Given the description of an element on the screen output the (x, y) to click on. 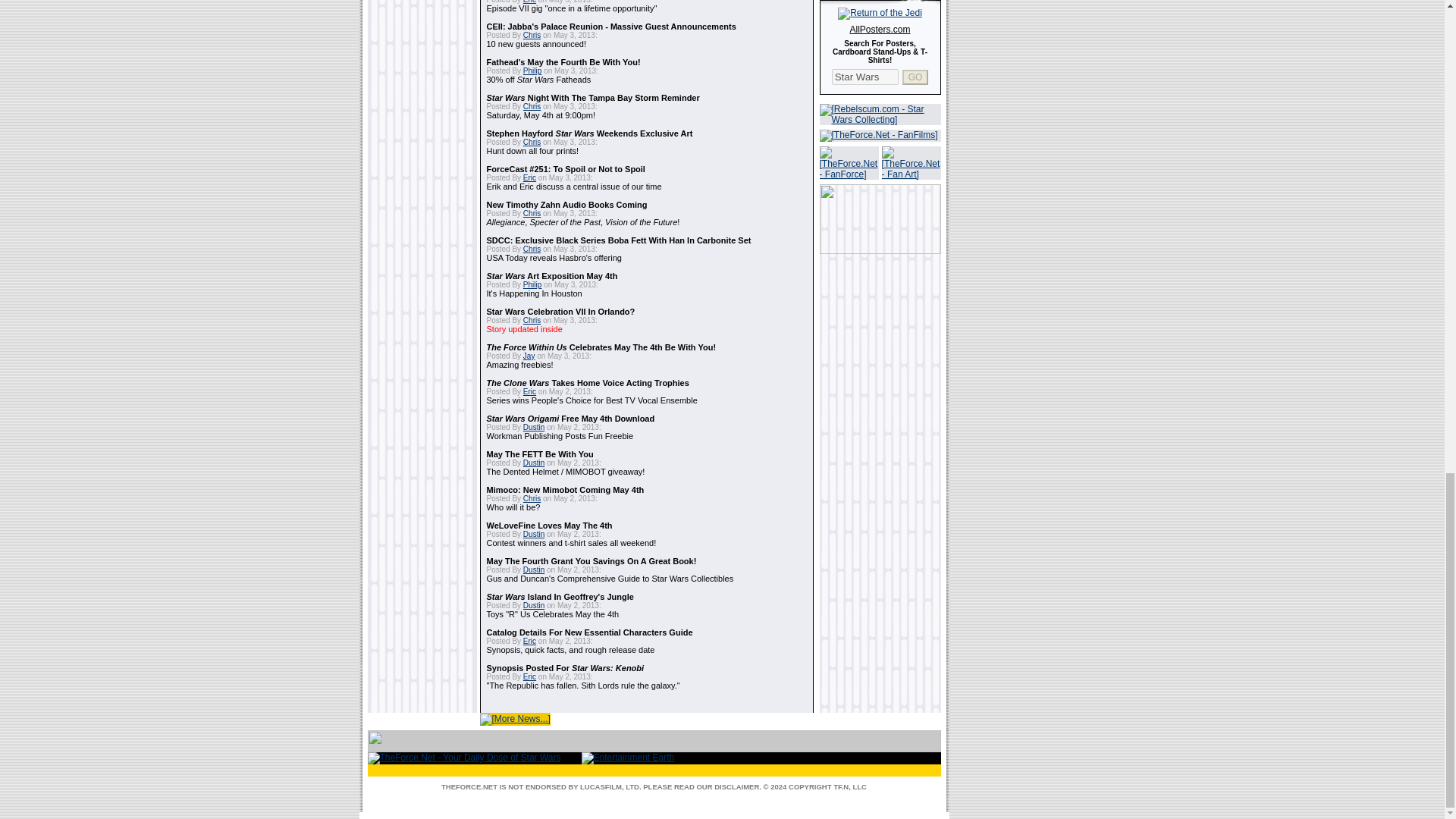
Eric (528, 2)
Chris (531, 106)
Star Wars Night With The Tampa Bay Storm Reminder (593, 97)
Fathead's May the Fourth Be With You! (563, 61)
CEII: Jabba's Palace Reunion - Massive Guest Announcements (611, 26)
Philip (531, 70)
Star Wars (864, 76)
GO (915, 76)
Chris (531, 35)
Chris (531, 142)
